Given the description of an element on the screen output the (x, y) to click on. 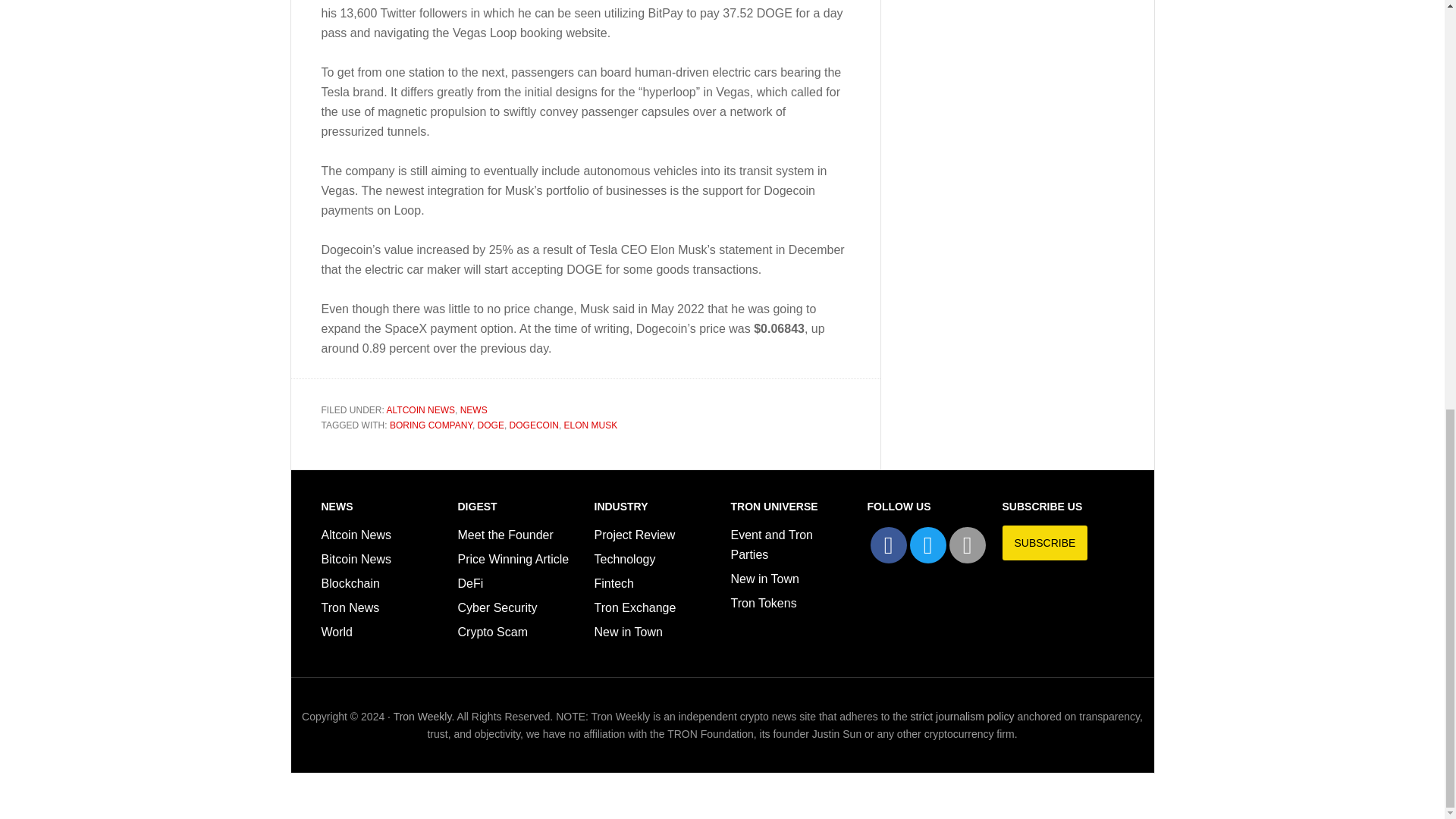
Facebook (888, 545)
BORING COMPANY (430, 424)
ALTCOIN NEWS (420, 409)
NEWS (473, 409)
Telegram (967, 545)
ELON MUSK (590, 424)
DOGECOIN (534, 424)
Twitter (928, 545)
DOGE (490, 424)
